Given the description of an element on the screen output the (x, y) to click on. 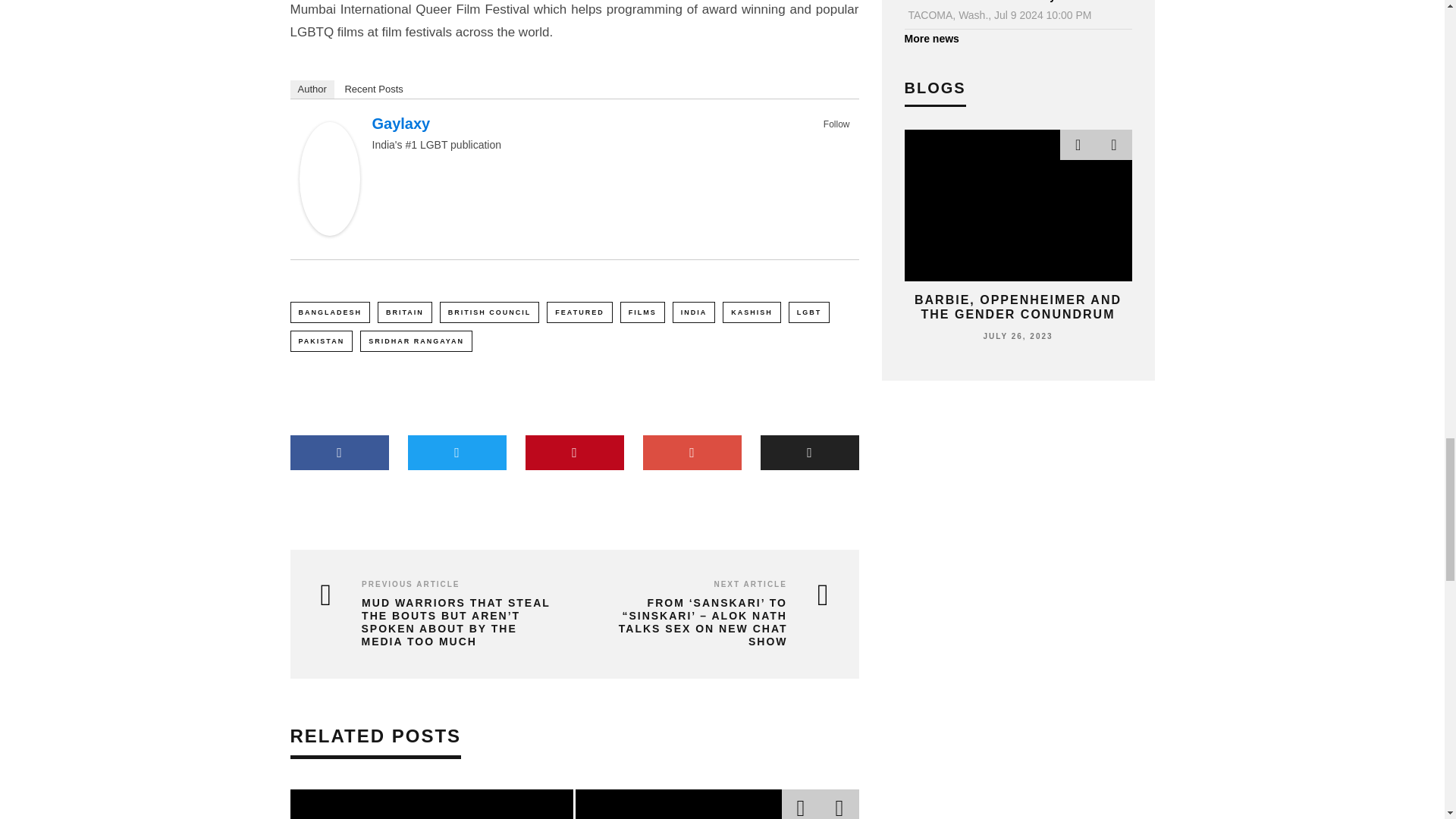
Gaylaxy (328, 231)
Twitter (839, 141)
Facebook (819, 141)
